Given the description of an element on the screen output the (x, y) to click on. 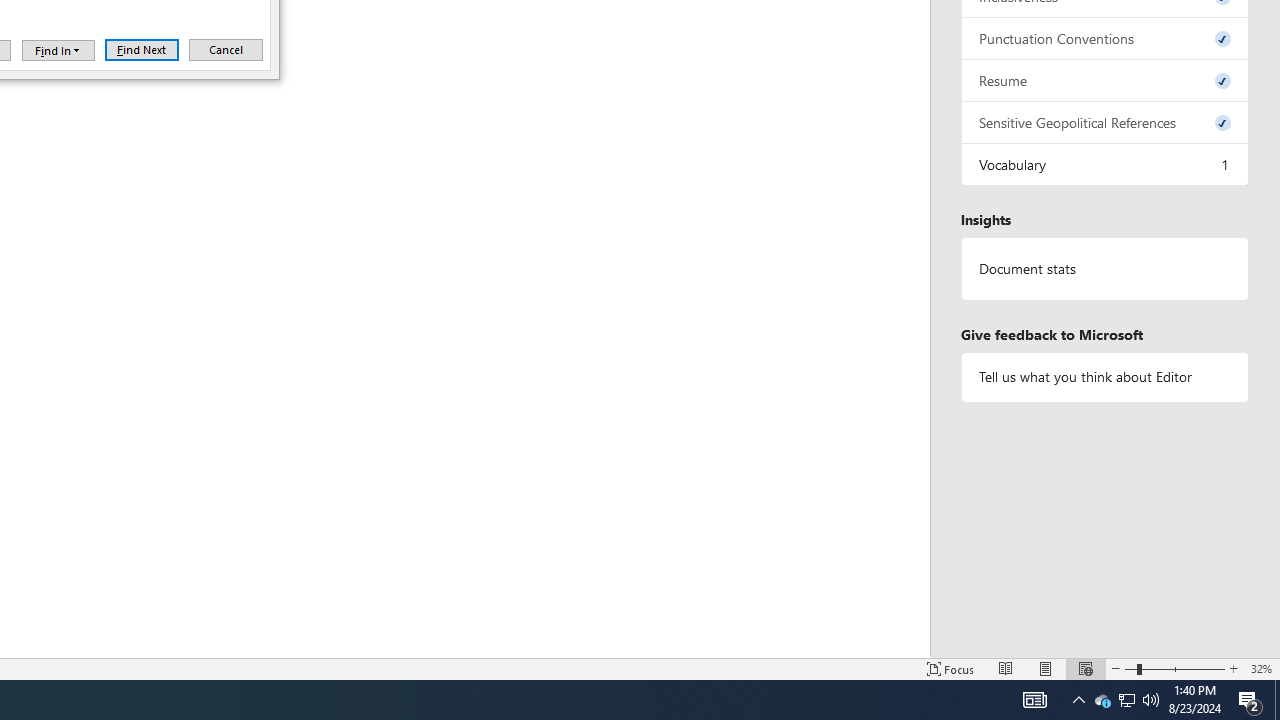
Zoom 32% (1261, 668)
Resume, 0 issues. Press space or enter to review items. (1105, 79)
Tell us what you think about Editor (1105, 376)
Document statistics (1105, 269)
Vocabulary, 1 issue. Press space or enter to review items. (1105, 164)
